Given the description of an element on the screen output the (x, y) to click on. 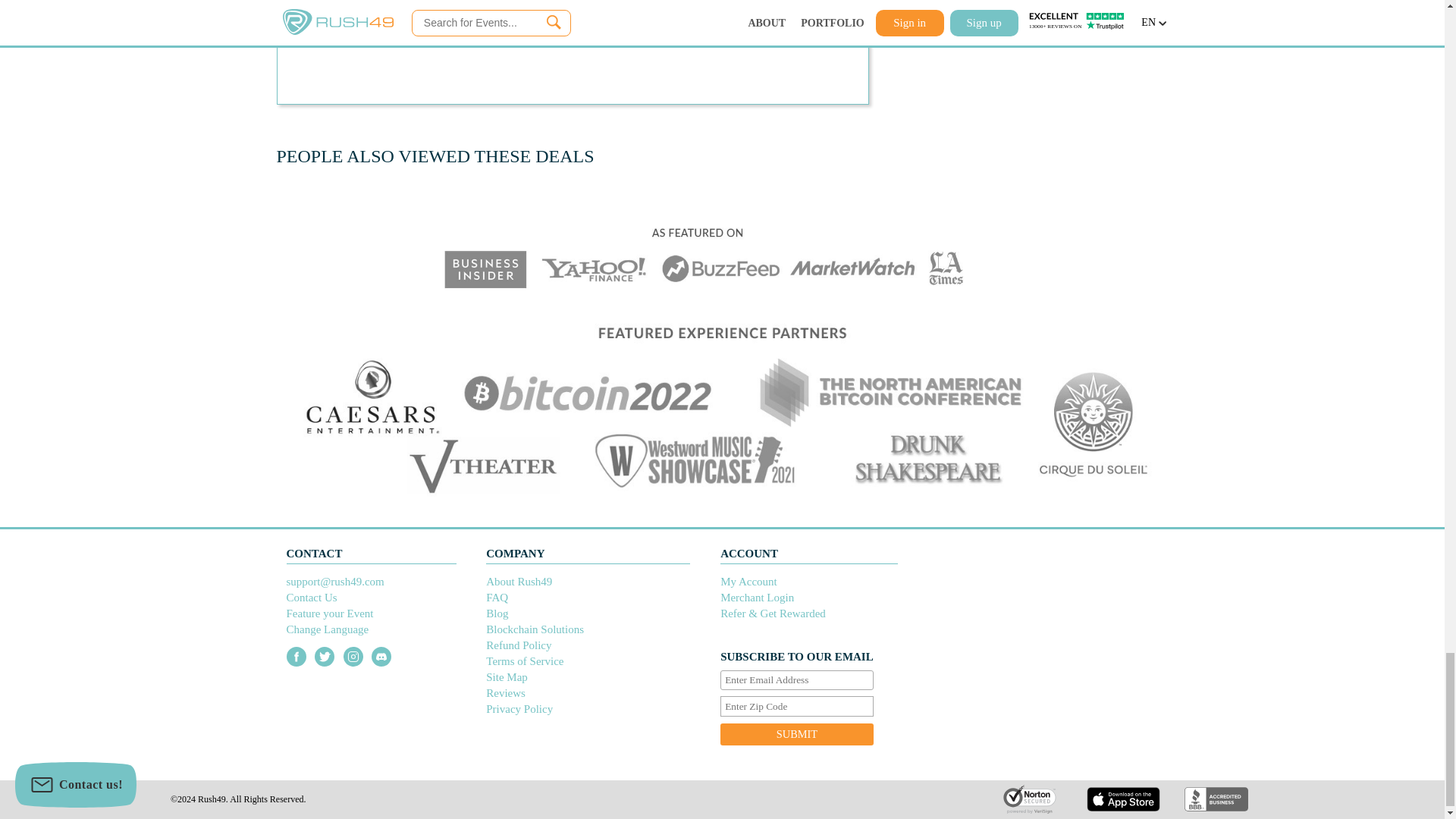
About Rush49 (518, 581)
Blog (497, 613)
Contact Us (311, 597)
Feature your Event (330, 613)
SUBMIT (796, 734)
Change Language (327, 629)
FAQ (497, 597)
Blockchain Solutions (534, 629)
